Given the description of an element on the screen output the (x, y) to click on. 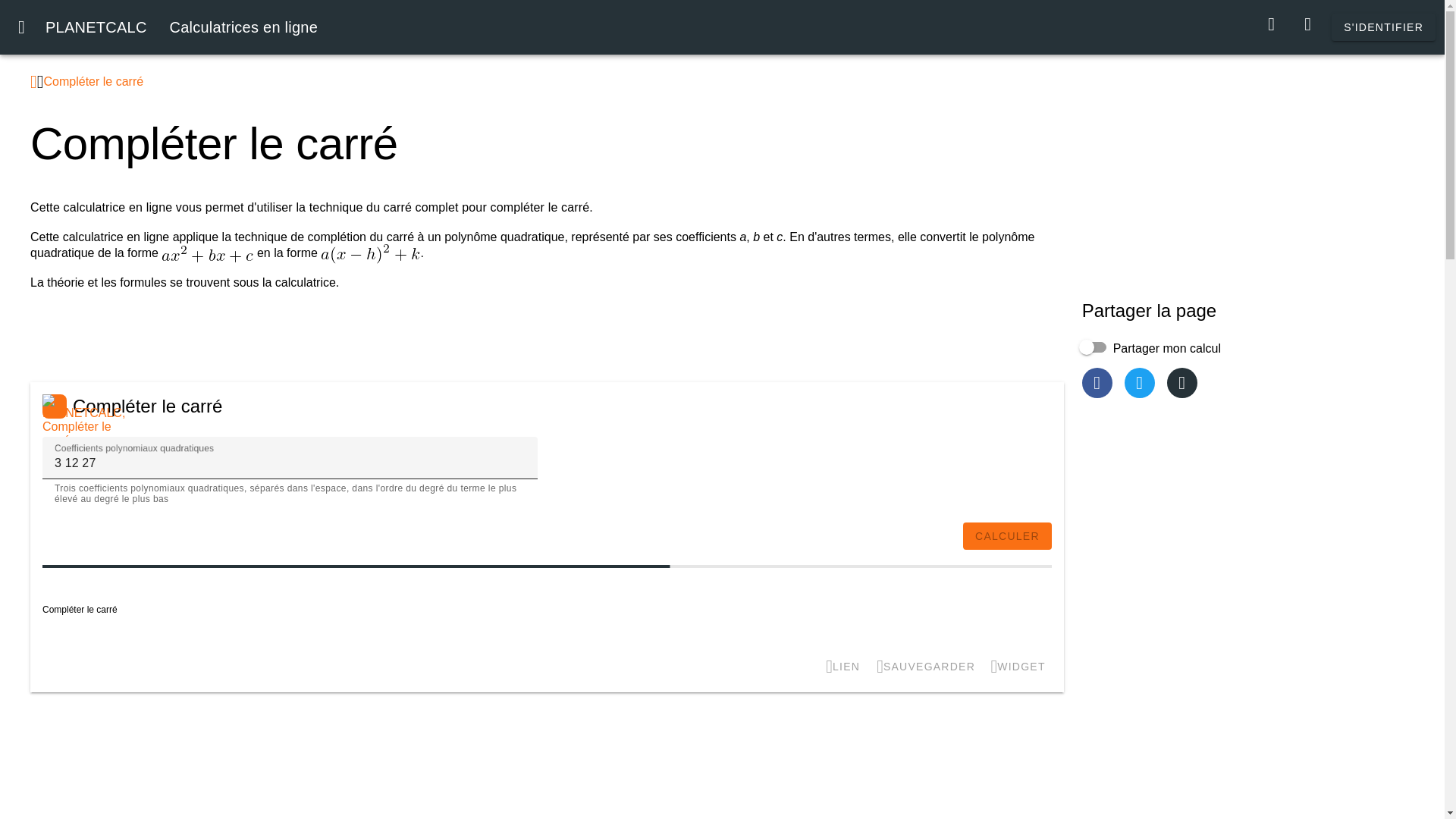
CALCULER (1006, 535)
PLANETCALC Calculatrices en ligne (181, 27)
3 12 27 (289, 457)
S'IDENTIFIER (1383, 26)
Calculatrices en ligne (181, 27)
